Given the description of an element on the screen output the (x, y) to click on. 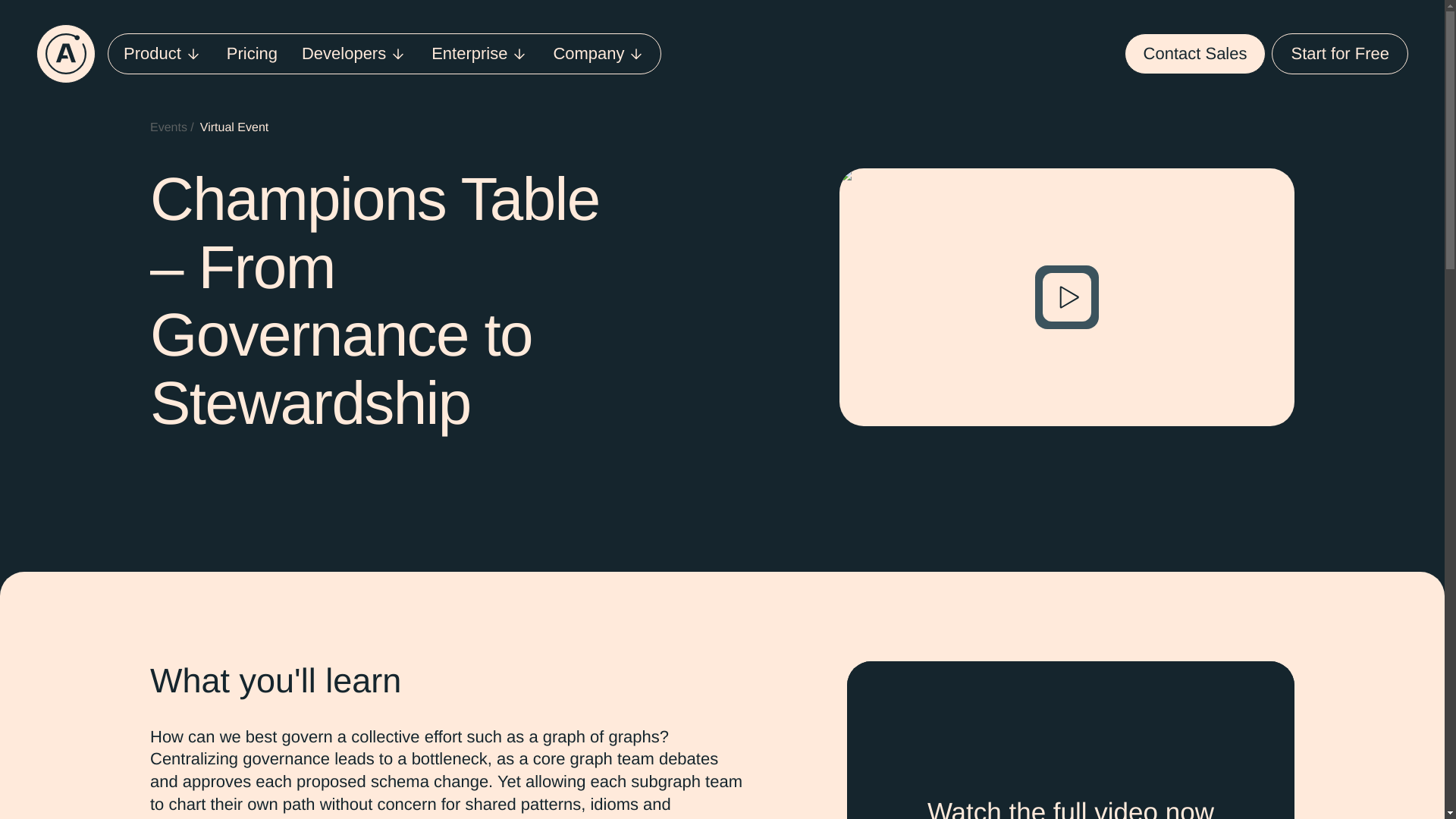
Product (163, 53)
Contact Sales (1195, 53)
Company (599, 53)
Developers (354, 53)
Start for Free (1339, 53)
Enterprise (479, 53)
Pricing (251, 53)
